Given the description of an element on the screen output the (x, y) to click on. 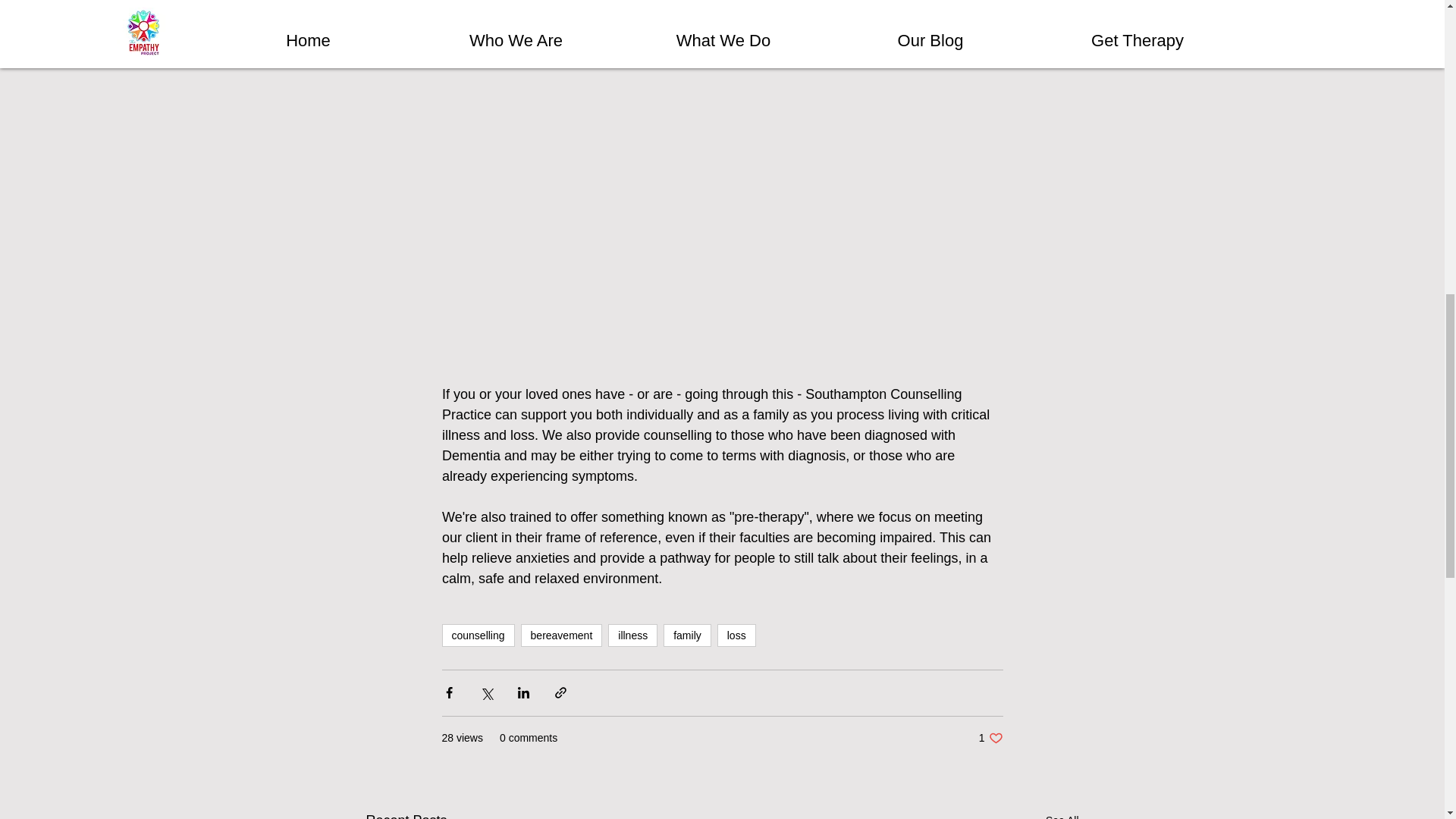
family (687, 635)
counselling (477, 635)
illness (633, 635)
bereavement (561, 635)
